Given the description of an element on the screen output the (x, y) to click on. 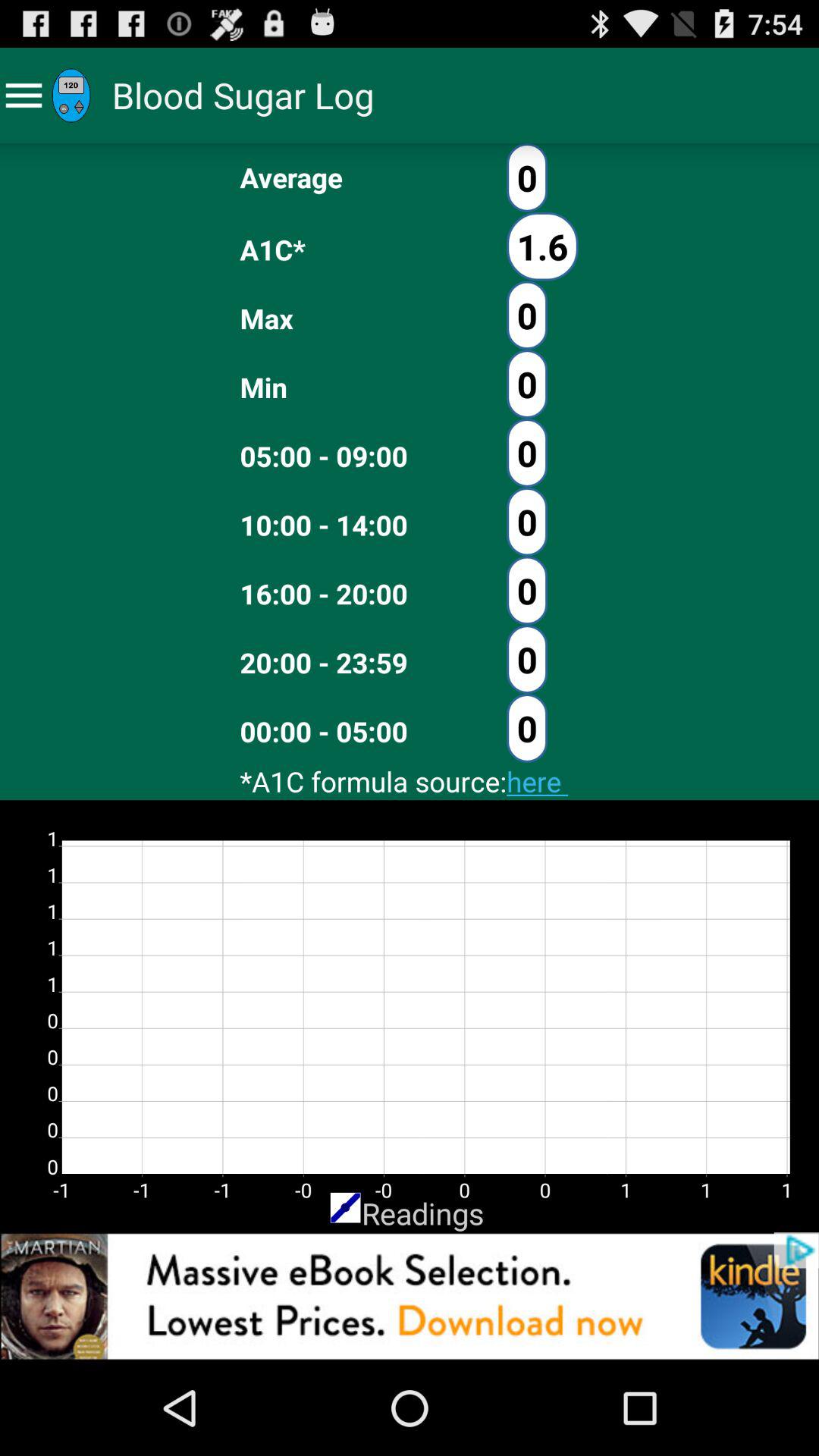
select the text next to a1 (542, 246)
click on the second 0 above blue color text (526, 659)
click on the button which is next to the max (526, 315)
click on the button which is next to the 0000  0500 (526, 728)
